Given the description of an element on the screen output the (x, y) to click on. 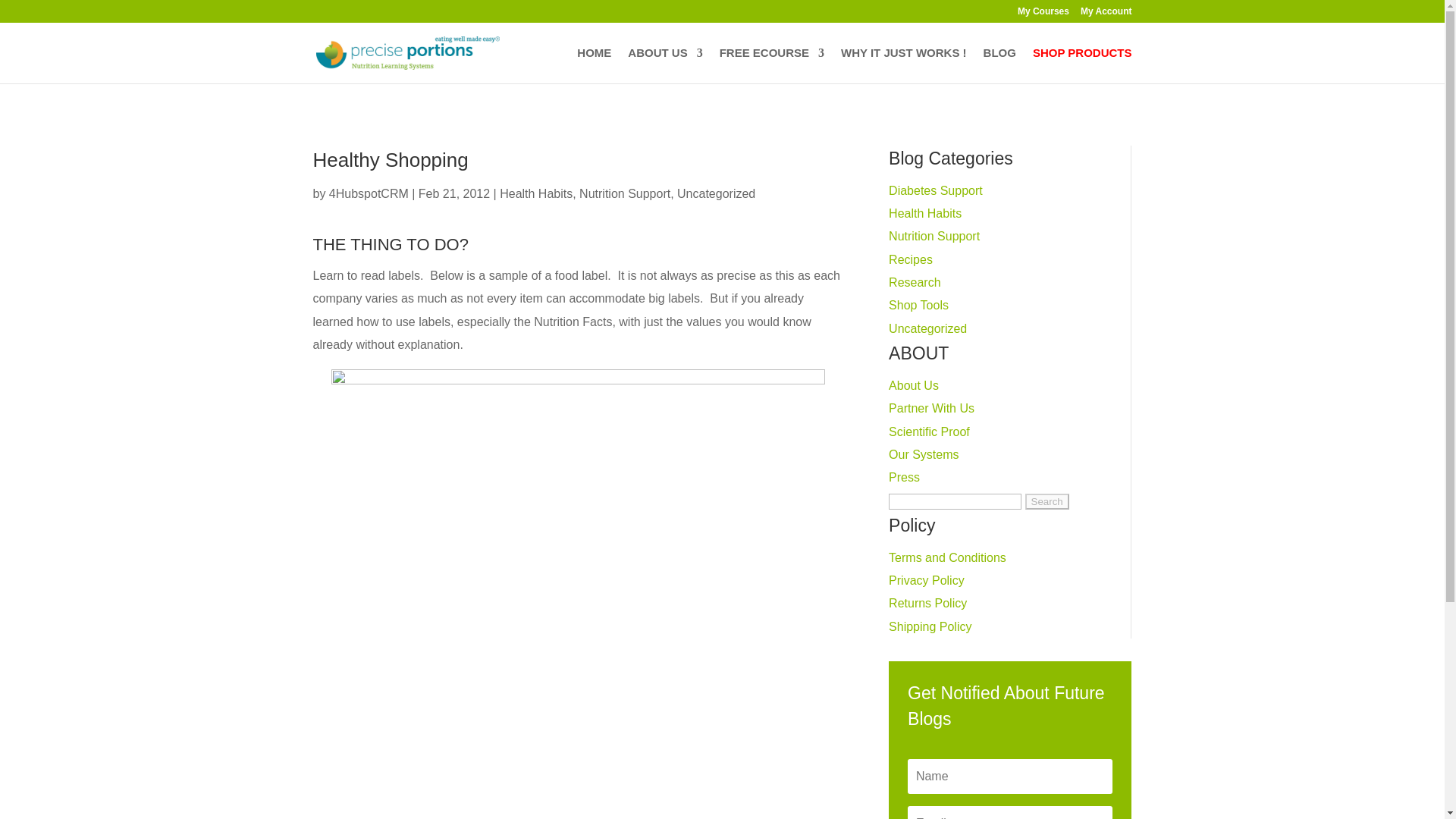
BLOG (1000, 65)
Nutrition Support (624, 193)
Shop Tools (918, 305)
Nutrition Support (933, 236)
Search (1046, 501)
SHOP PRODUCTS (1082, 65)
Privacy Policy (925, 580)
About Us (913, 385)
HOME (593, 65)
Terms and Conditions (947, 557)
